Given the description of an element on the screen output the (x, y) to click on. 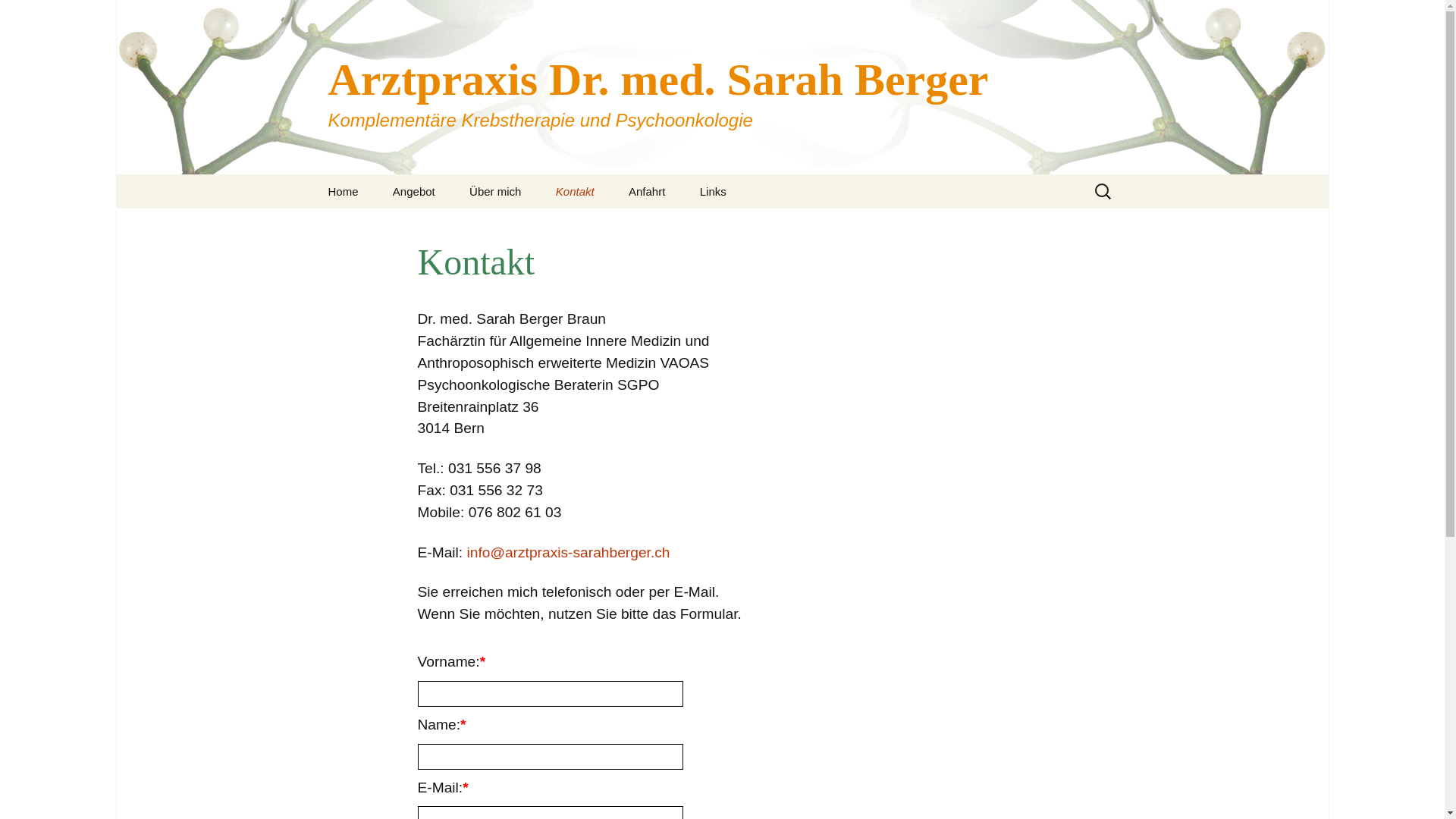
Zum Inhalt springen Element type: text (312, 174)
info@arztpraxis-sarahberger.ch Element type: text (568, 552)
Home Element type: text (342, 191)
Anfahrt Element type: text (646, 191)
Suche Element type: text (18, 17)
Angebot Element type: text (413, 191)
Kontakt Element type: text (574, 191)
Links Element type: text (712, 191)
